Given the description of an element on the screen output the (x, y) to click on. 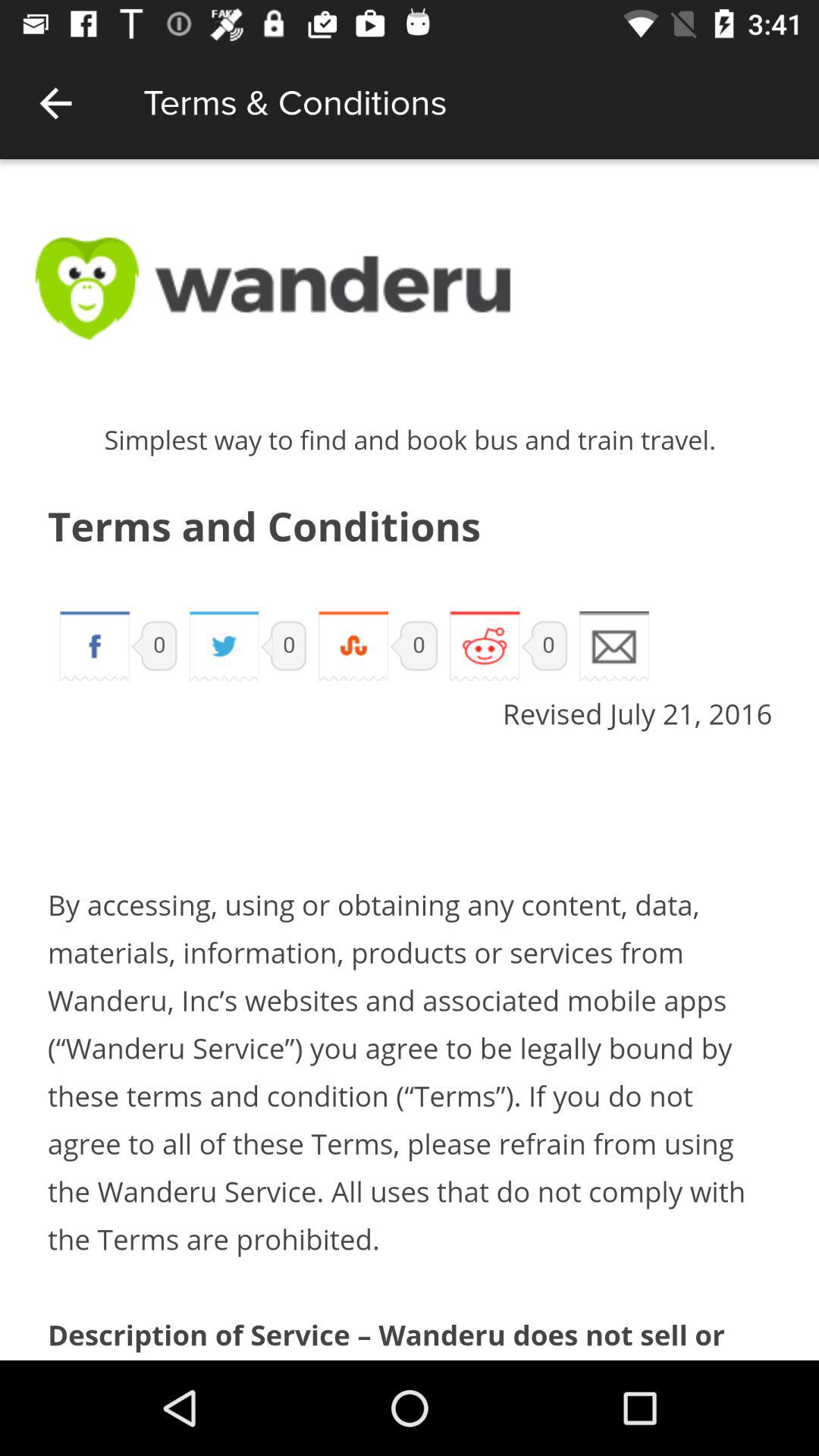
go back (55, 103)
